Given the description of an element on the screen output the (x, y) to click on. 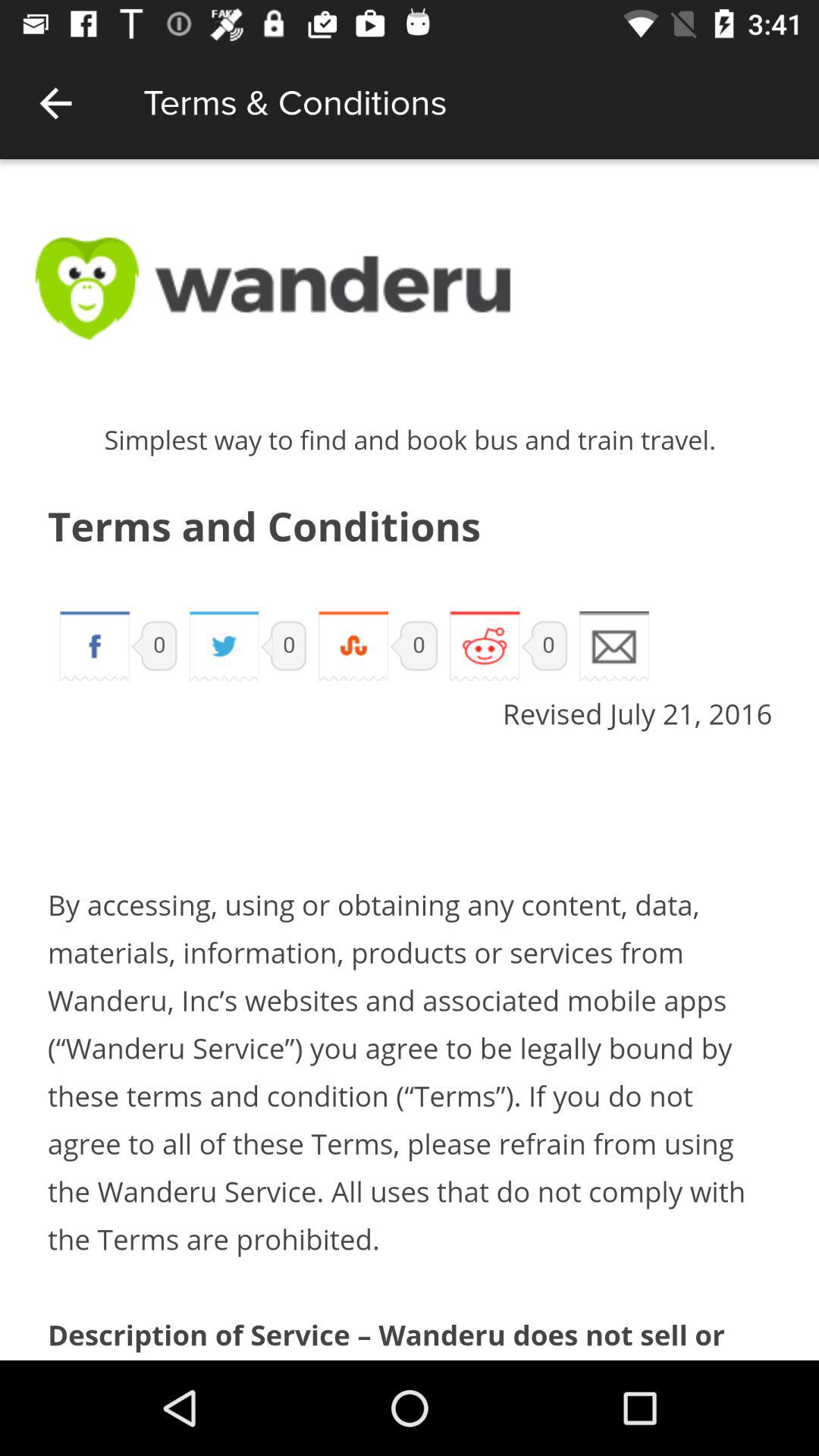
go back (55, 103)
